Given the description of an element on the screen output the (x, y) to click on. 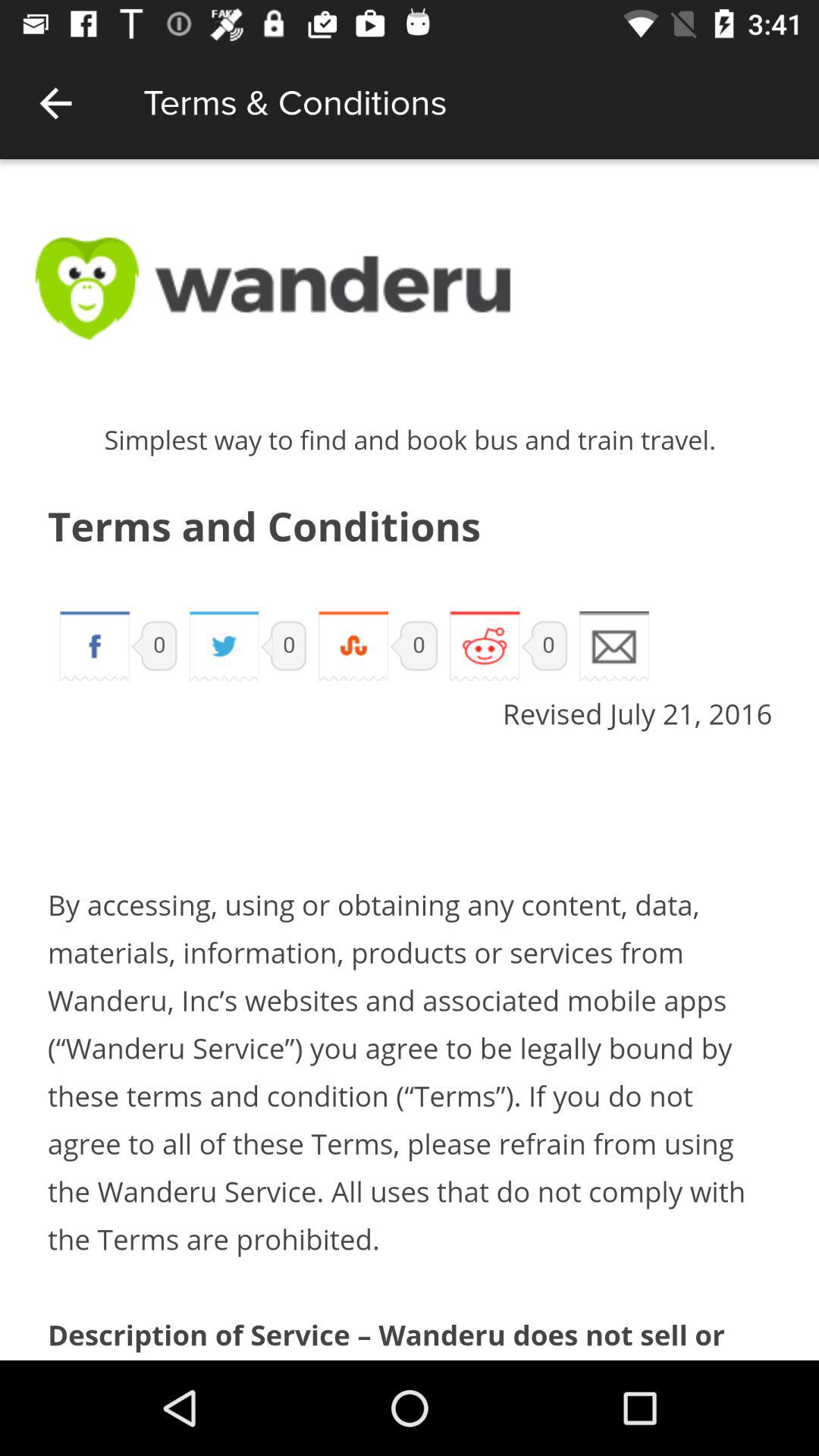
go back (55, 103)
